Given the description of an element on the screen output the (x, y) to click on. 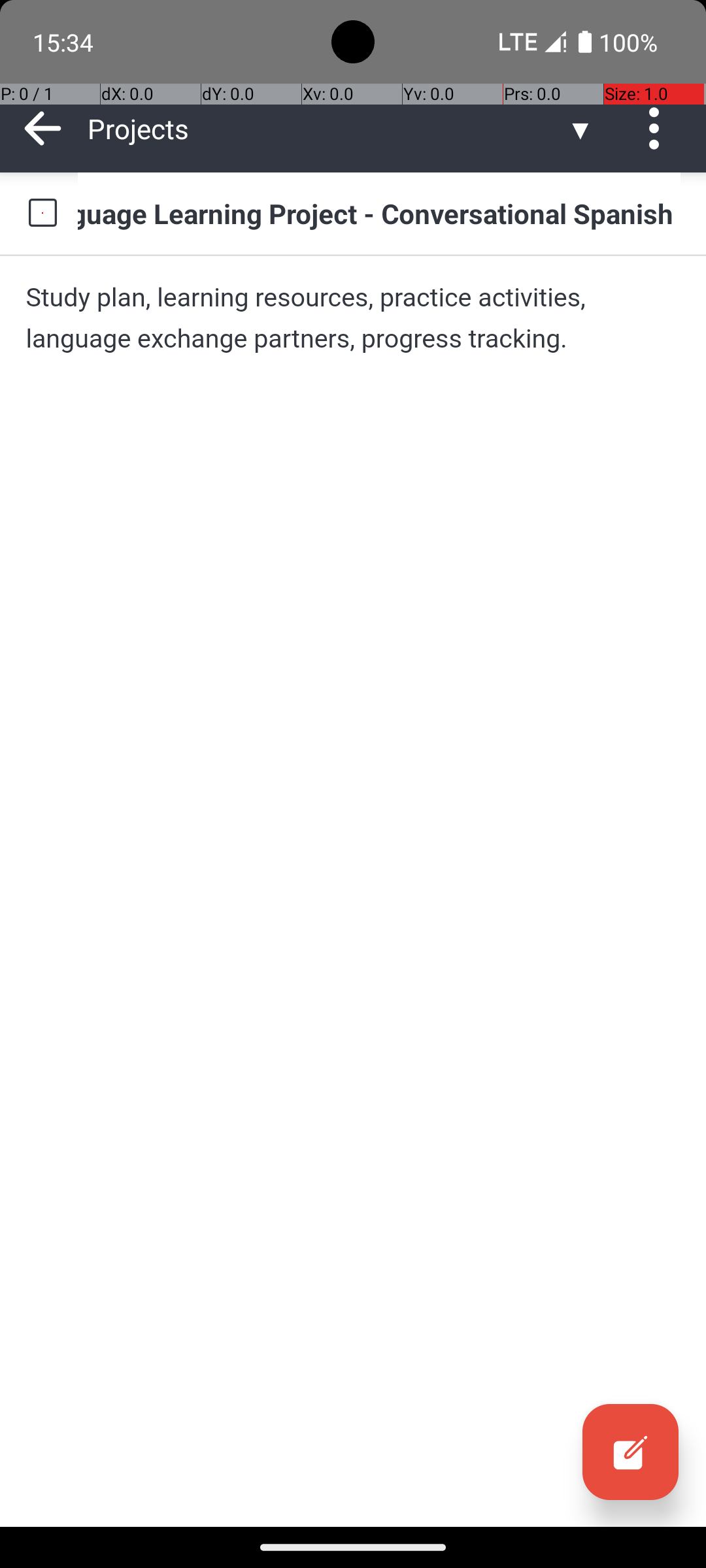
Language Learning Project - Conversational Spanish Element type: android.widget.EditText (378, 213)
Study plan, learning resources, practice activities, language exchange partners, progress tracking. Element type: android.widget.TextView (352, 317)
